Given the description of an element on the screen output the (x, y) to click on. 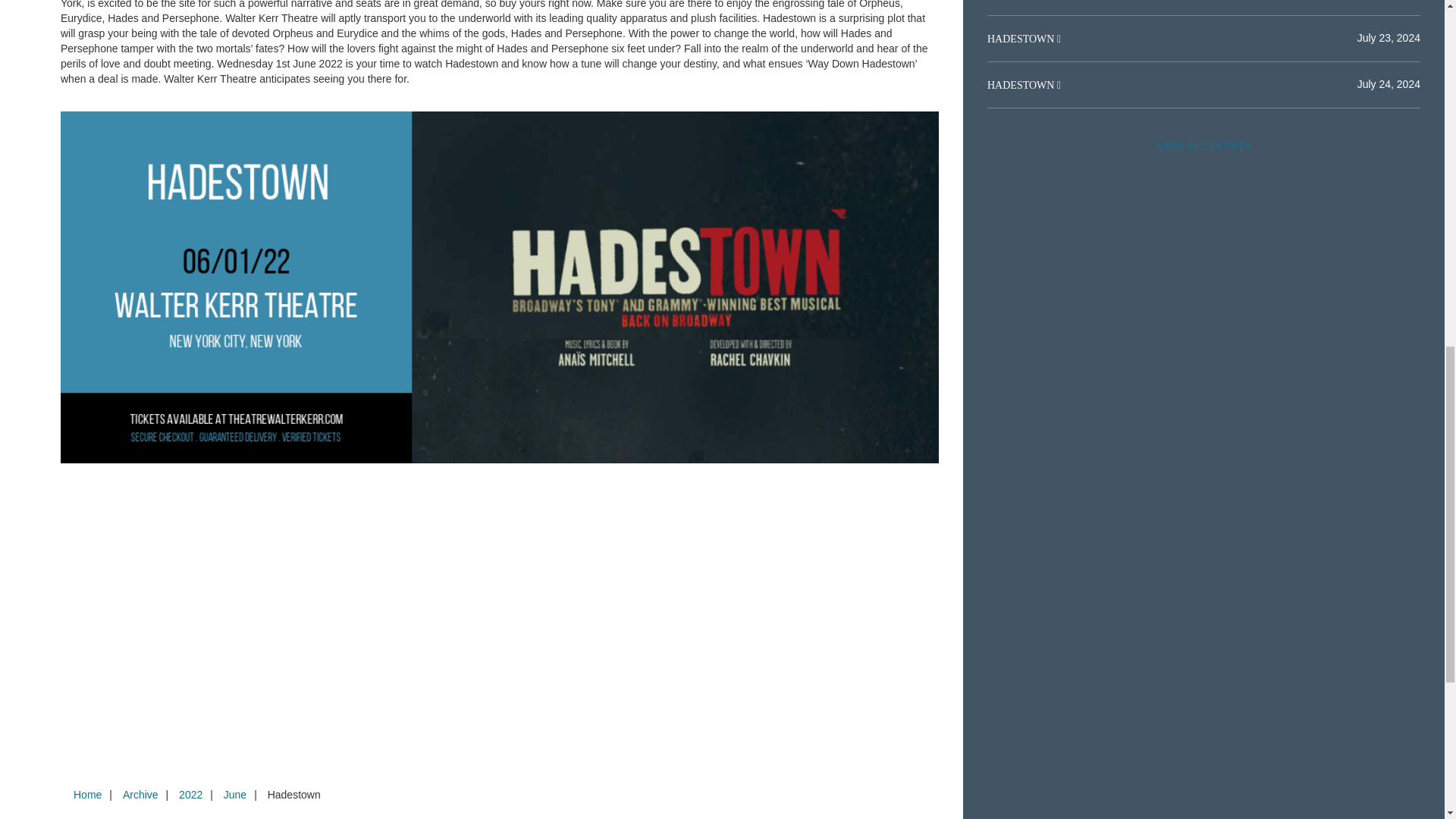
VIEW ALL EVENTS (1203, 146)
June (234, 794)
2022 (190, 794)
Home (87, 794)
Archive (140, 794)
